Given the description of an element on the screen output the (x, y) to click on. 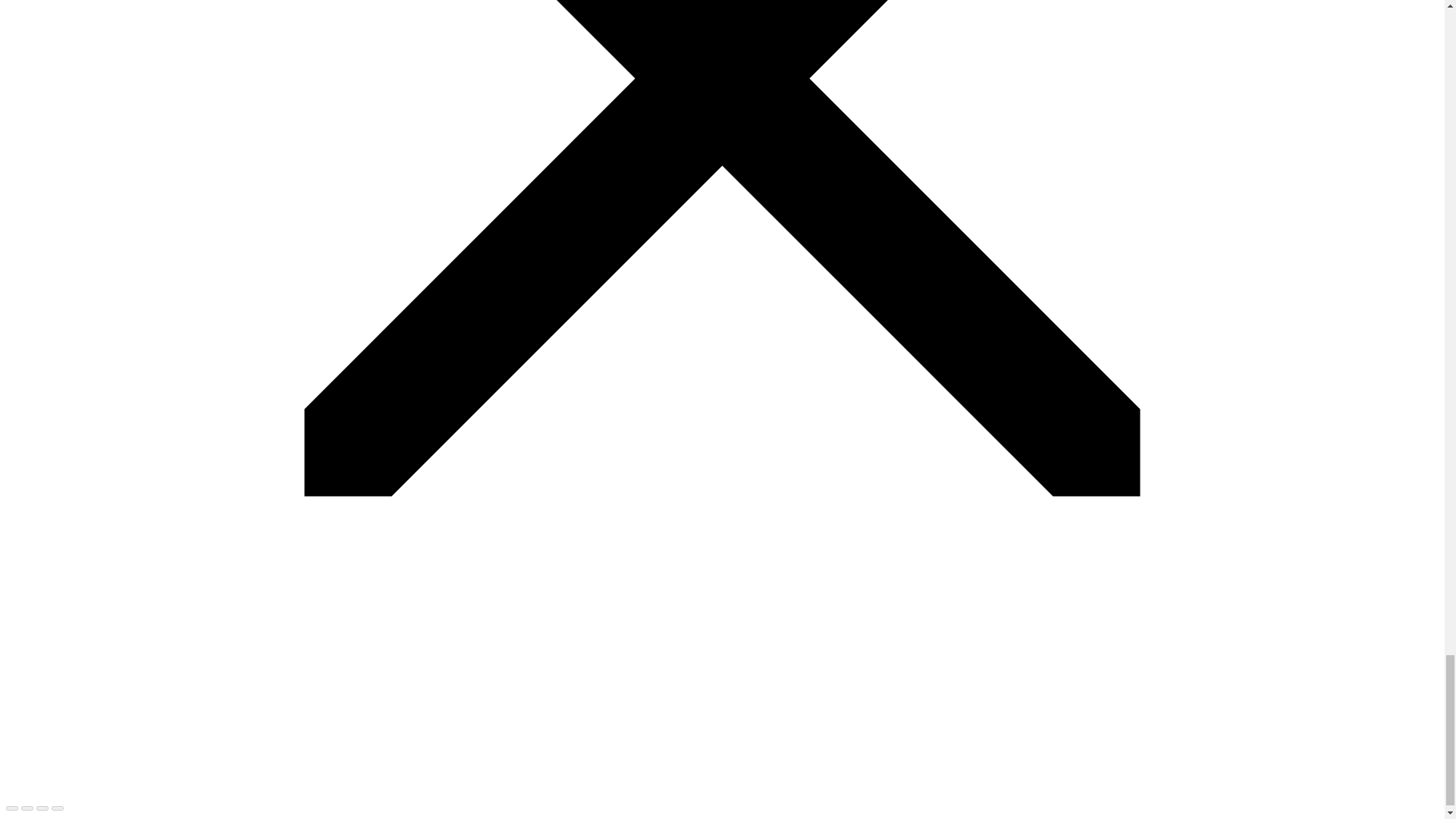
Share (27, 807)
Toggle fullscreen (42, 807)
